Given the description of an element on the screen output the (x, y) to click on. 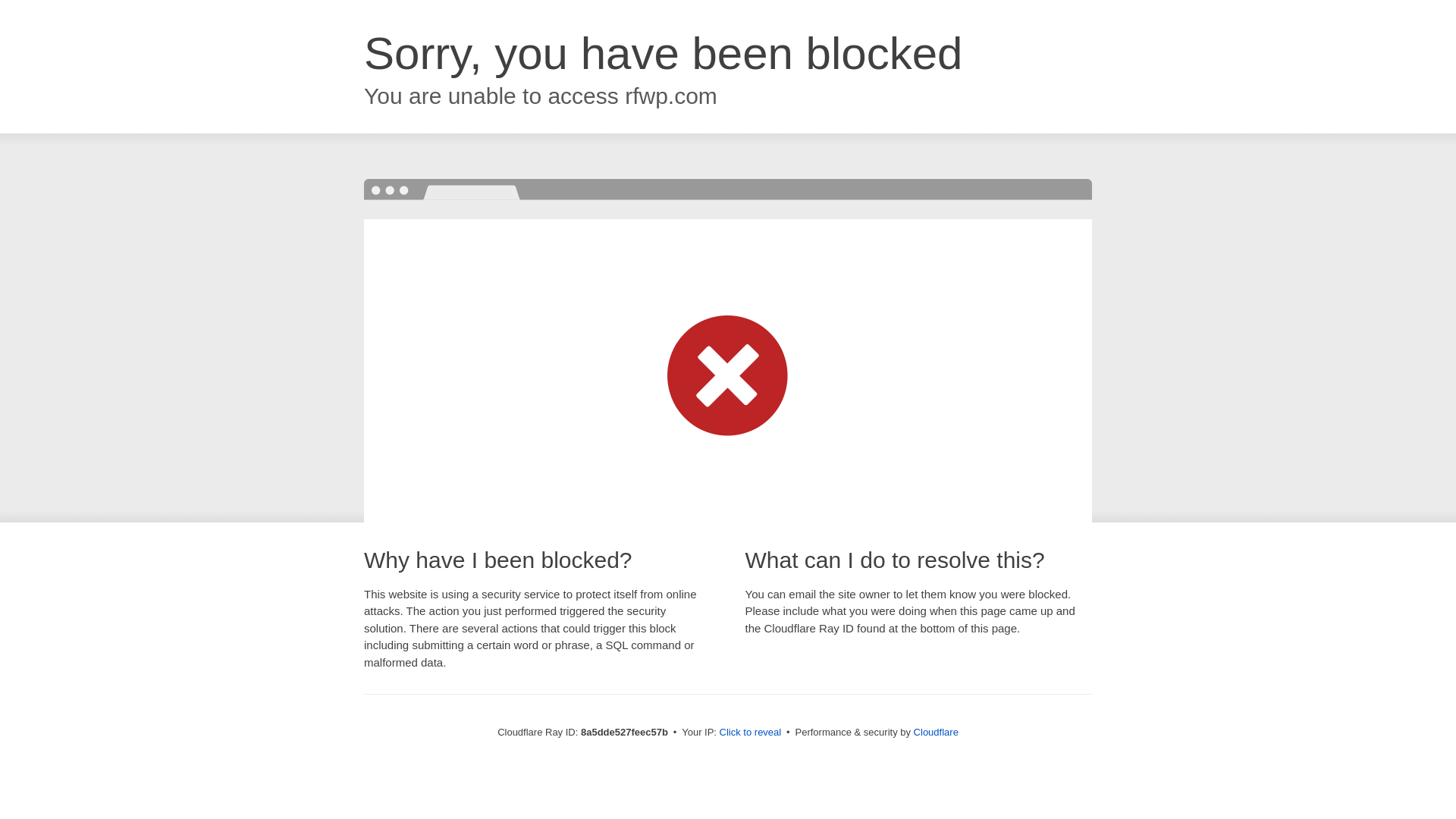
Click to reveal (750, 732)
Cloudflare (936, 731)
